Given the description of an element on the screen output the (x, y) to click on. 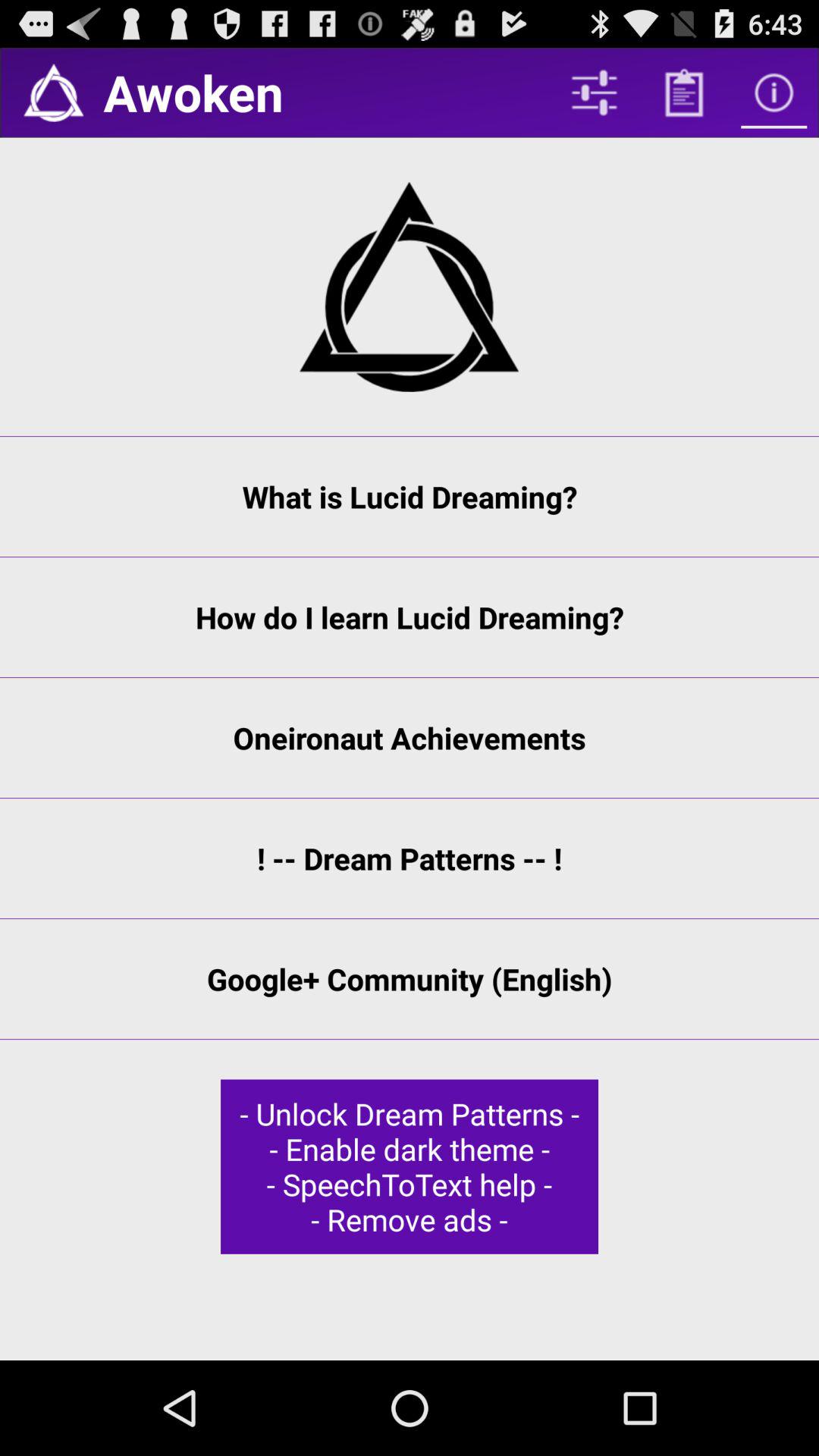
tap the item below the ! -- dream patterns -- ! icon (409, 979)
